Given the description of an element on the screen output the (x, y) to click on. 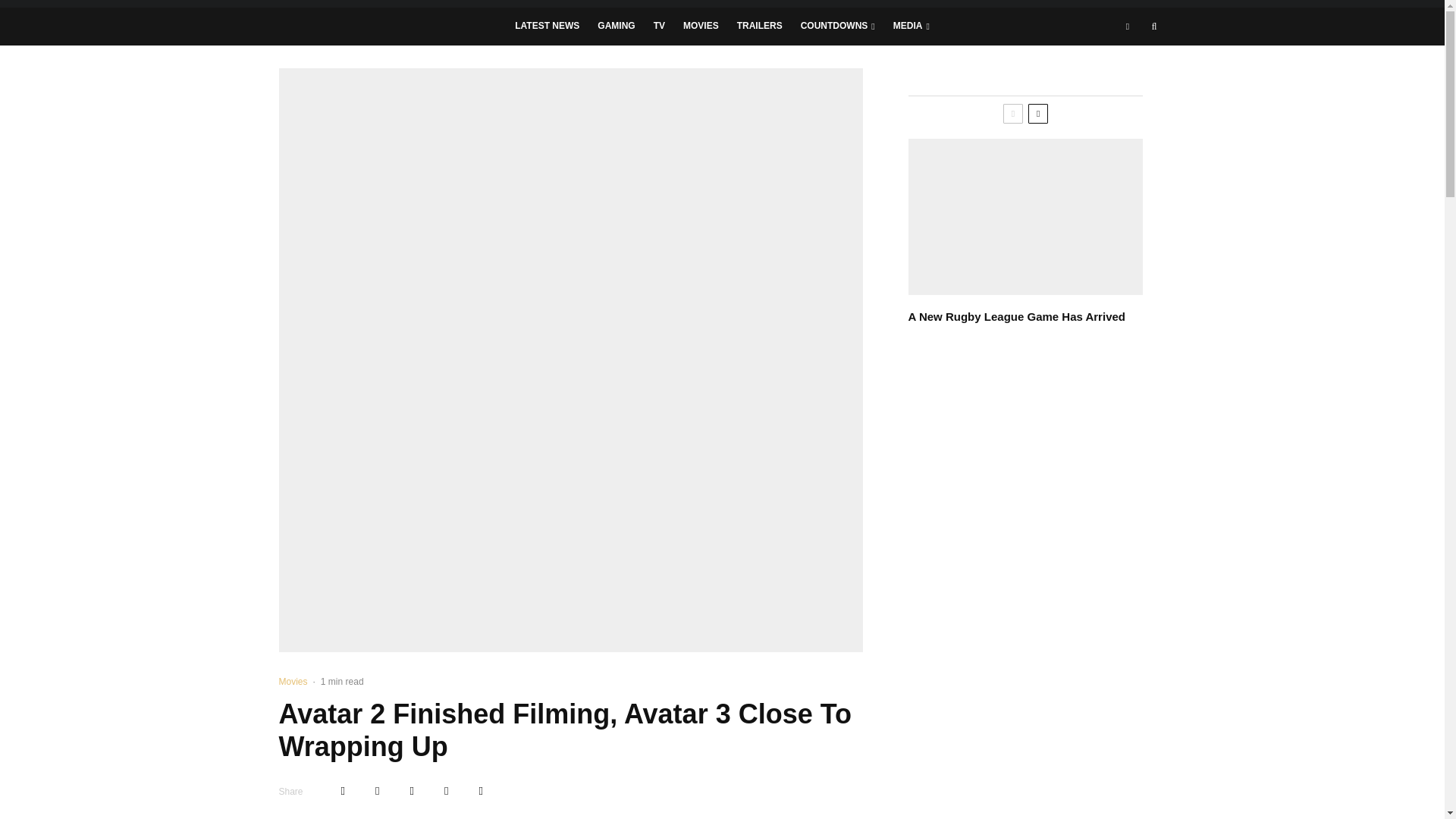
MOVIES (701, 26)
GAMING (615, 26)
LATEST NEWS (546, 26)
